Given the description of an element on the screen output the (x, y) to click on. 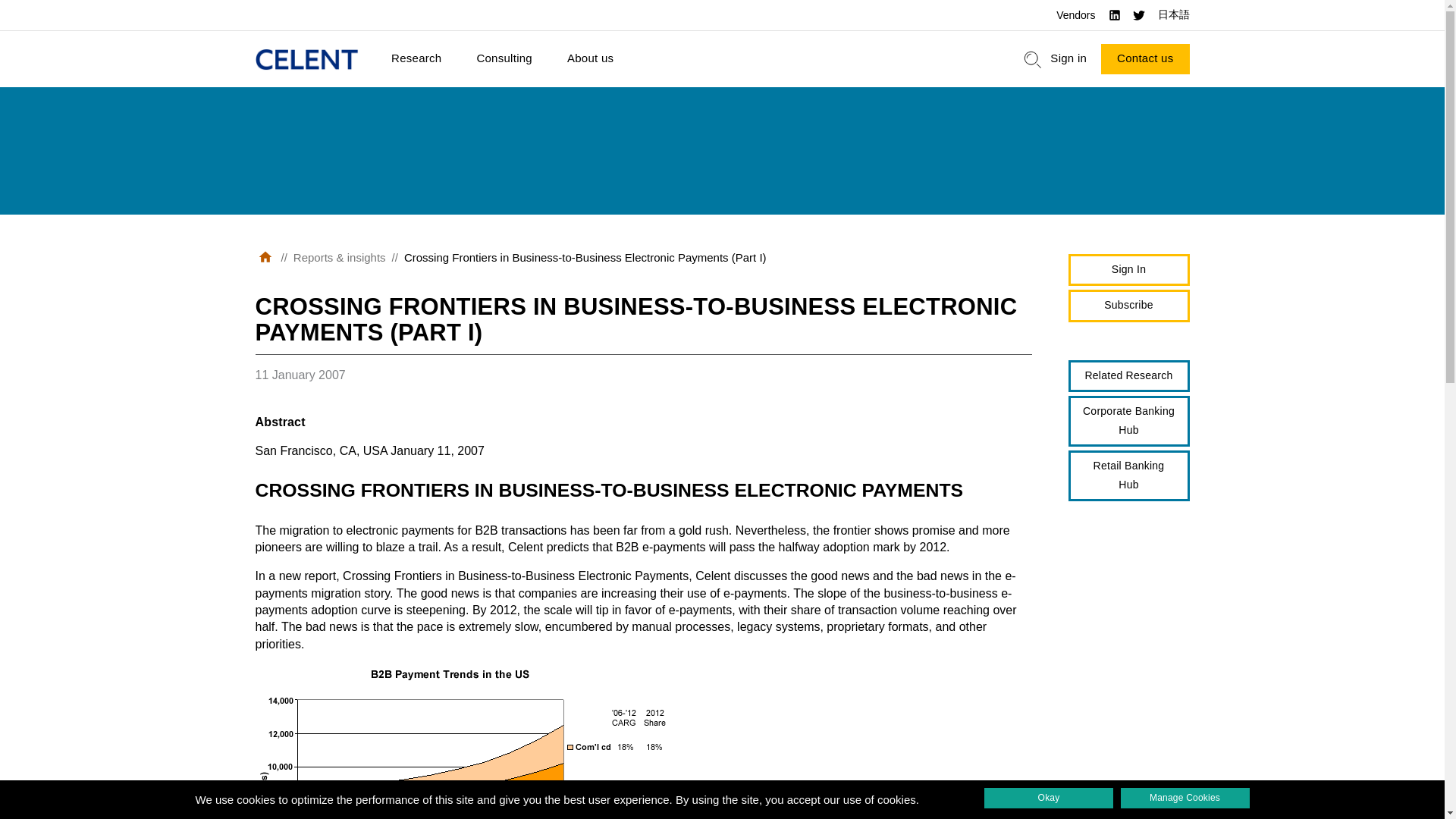
Sign in (1068, 59)
Manage Cookies (1185, 797)
Research (415, 59)
Vendors (1075, 15)
Contact us (1144, 59)
About us (590, 59)
Consulting (503, 59)
search (1032, 58)
Okay (1048, 797)
Home (306, 59)
